Given the description of an element on the screen output the (x, y) to click on. 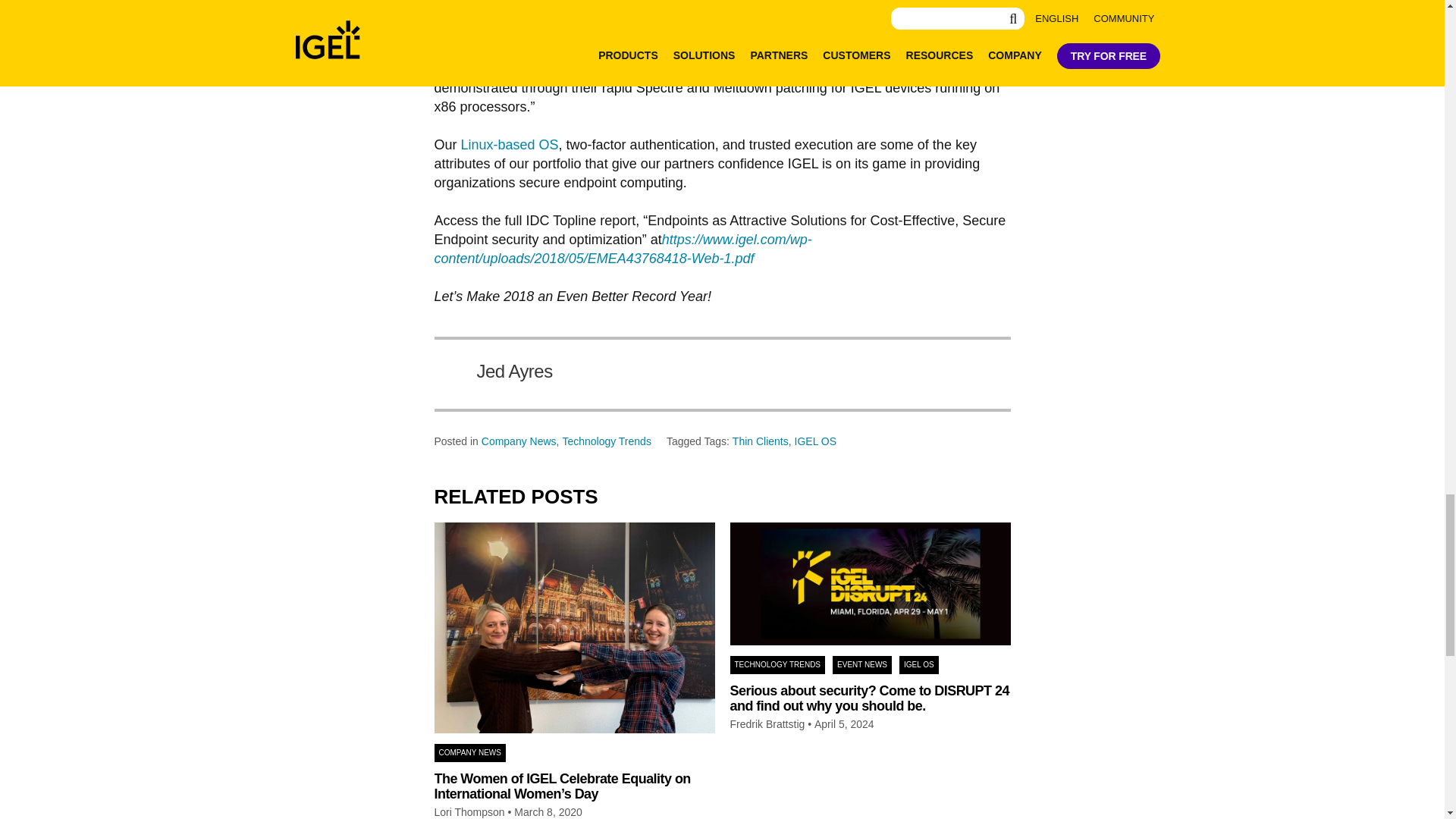
IGEL Universal Desktop OS (510, 144)
Posts by Fredrik Brattstig (767, 724)
Posts by Lori Thompson (468, 812)
